Given the description of an element on the screen output the (x, y) to click on. 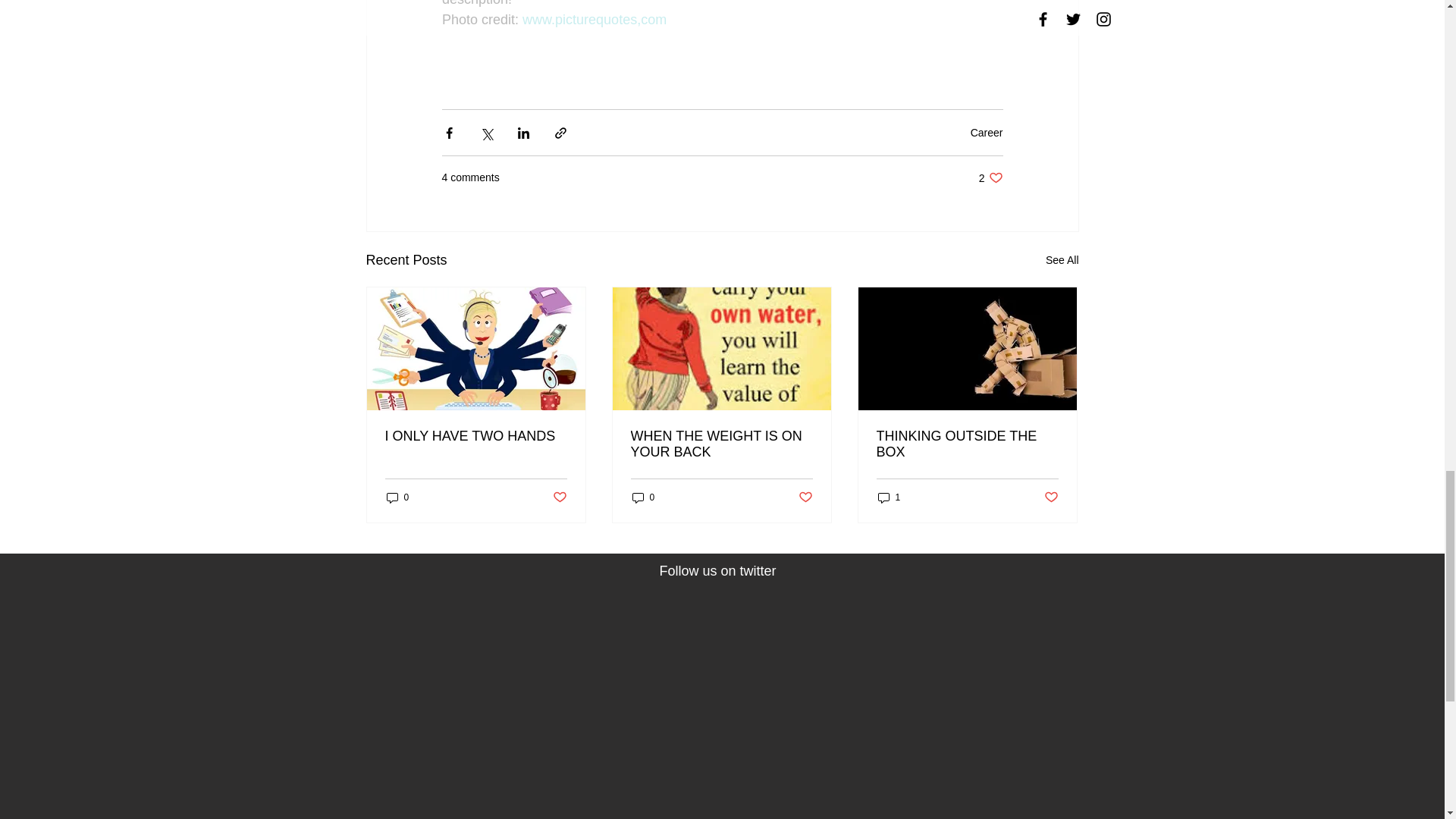
Post not marked as liked (558, 497)
www.picturequotes,com (990, 177)
0 (594, 19)
THINKING OUTSIDE THE BOX (397, 496)
0 (967, 444)
See All (643, 496)
Post not marked as liked (1061, 260)
Career (804, 497)
WHEN THE WEIGHT IS ON YOUR BACK (987, 132)
